Given the description of an element on the screen output the (x, y) to click on. 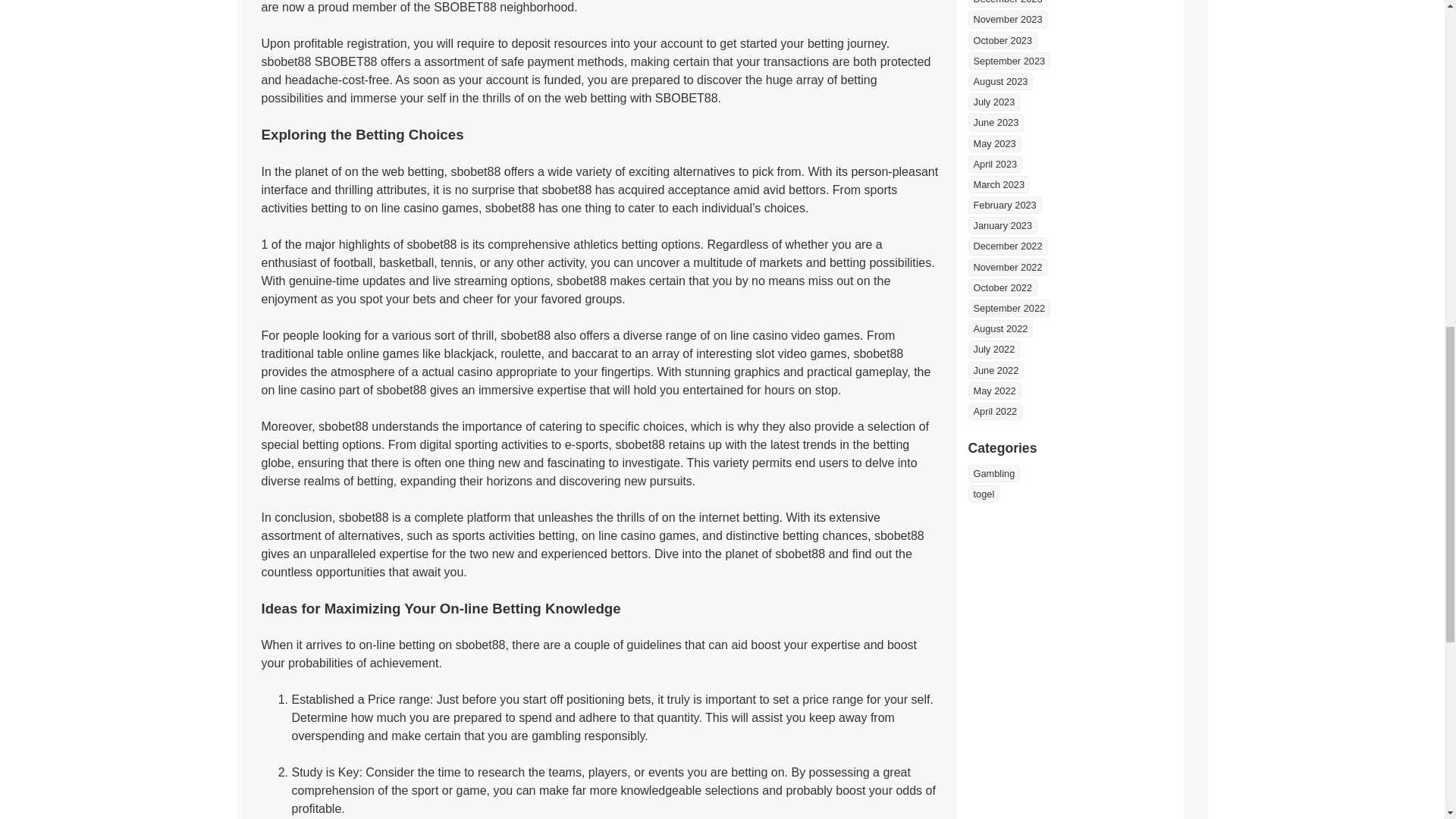
October 2022 (1002, 287)
August 2023 (1000, 81)
July 2023 (994, 101)
November 2023 (1007, 18)
February 2023 (1004, 204)
June 2023 (995, 122)
September 2023 (1008, 60)
July 2022 (994, 348)
October 2023 (1002, 40)
June 2022 (995, 370)
April 2023 (995, 163)
November 2022 (1007, 267)
January 2023 (1002, 225)
May 2023 (994, 143)
sbobet88 (285, 61)
